Given the description of an element on the screen output the (x, y) to click on. 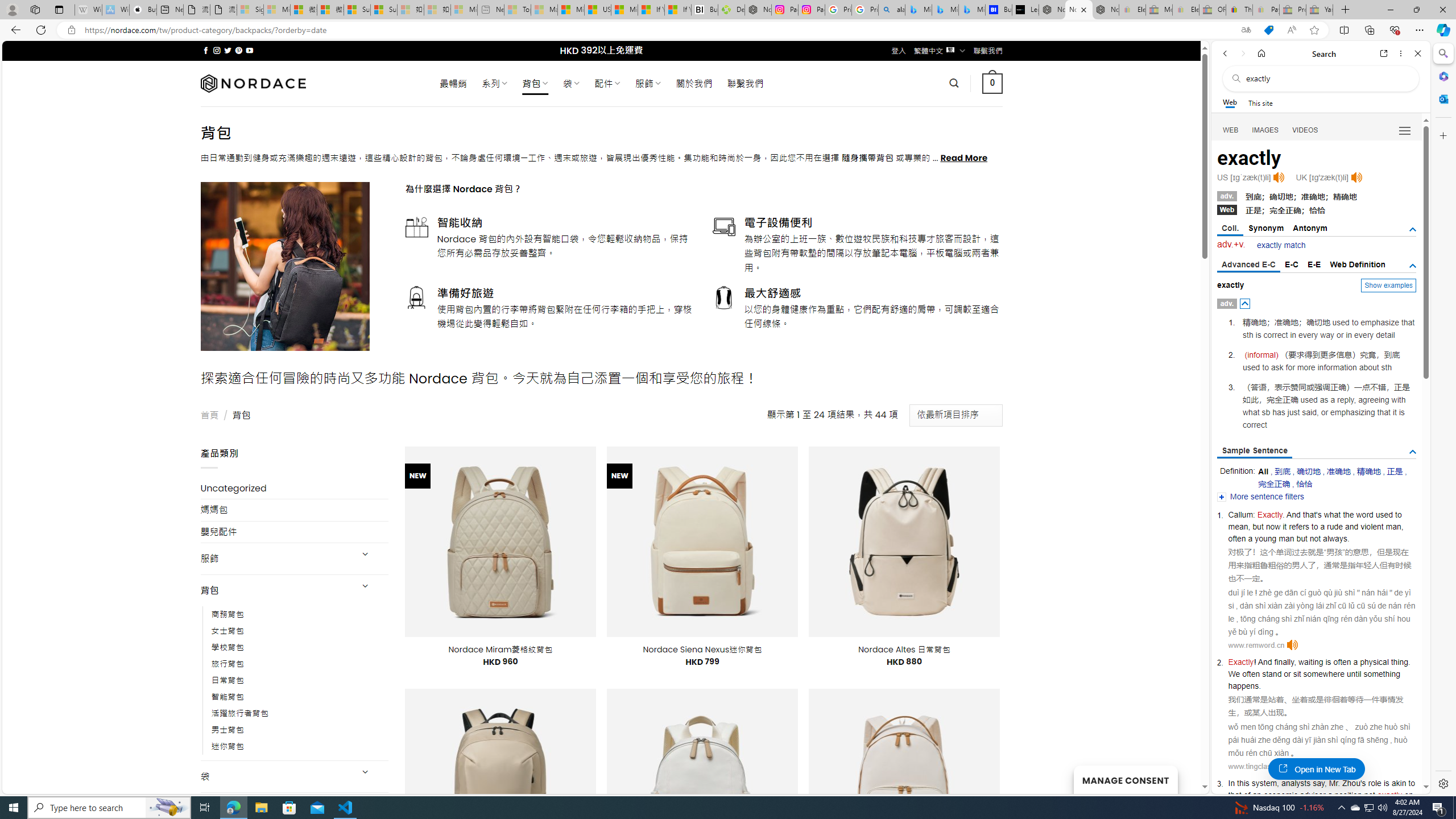
thing (1399, 661)
stand (1271, 673)
system (1263, 782)
sit (1296, 673)
Buy iPad - Apple (143, 9)
